Given the description of an element on the screen output the (x, y) to click on. 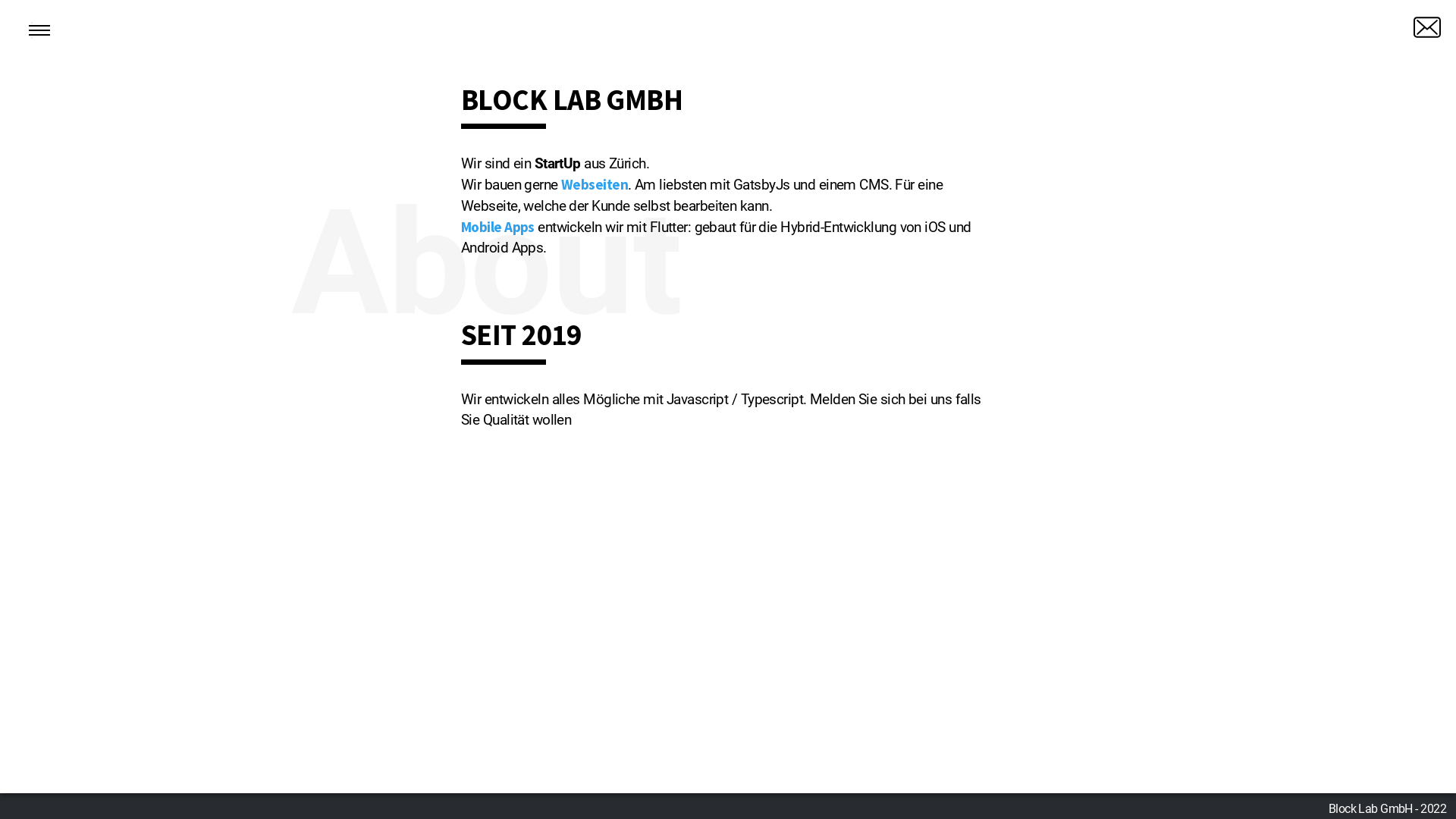
Contact me Element type: hover (1426, 26)
Mobile Apps Element type: text (497, 226)
Webseiten Element type: text (594, 184)
